Given the description of an element on the screen output the (x, y) to click on. 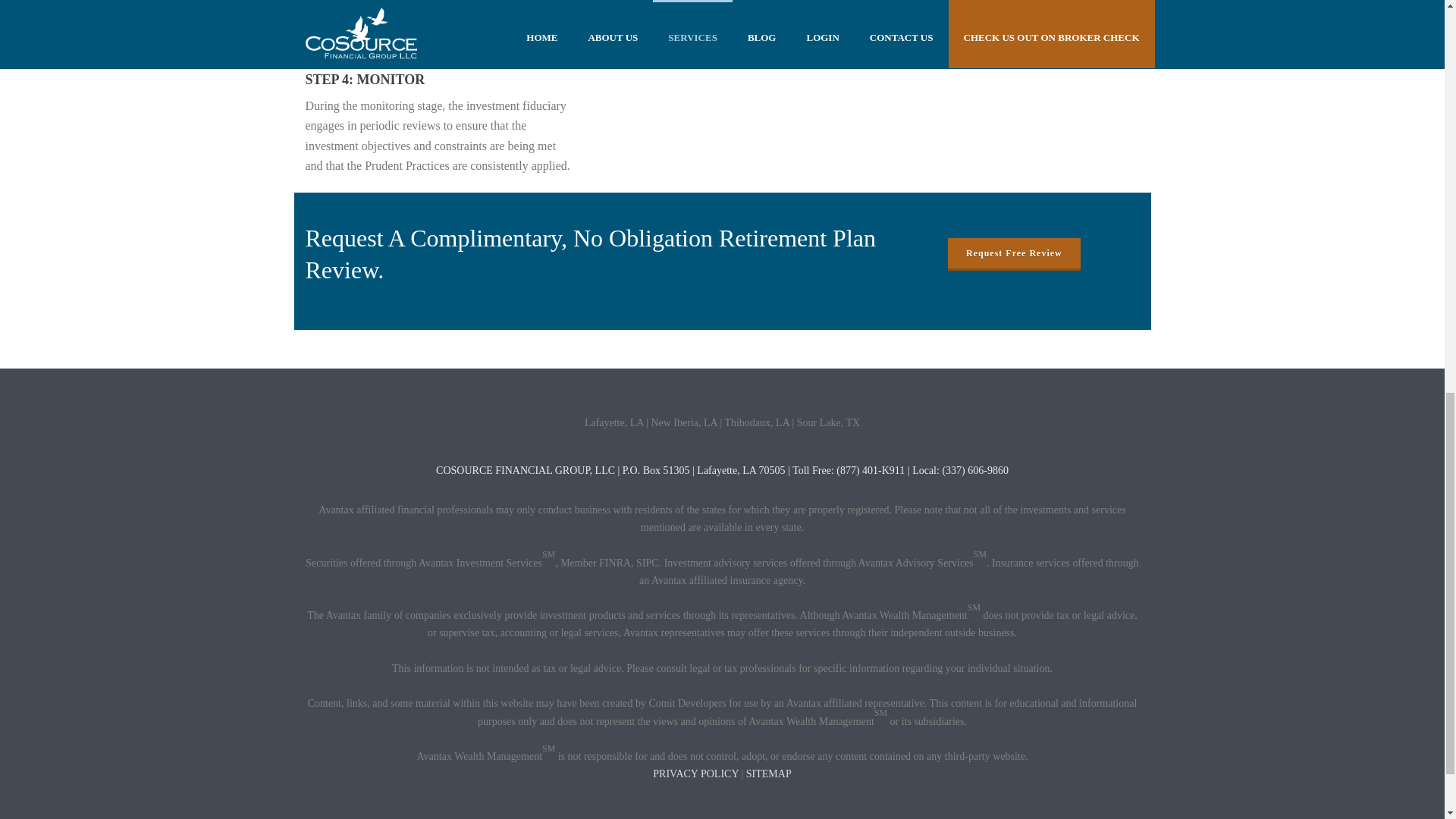
Request Free Review (1013, 253)
